Given the description of an element on the screen output the (x, y) to click on. 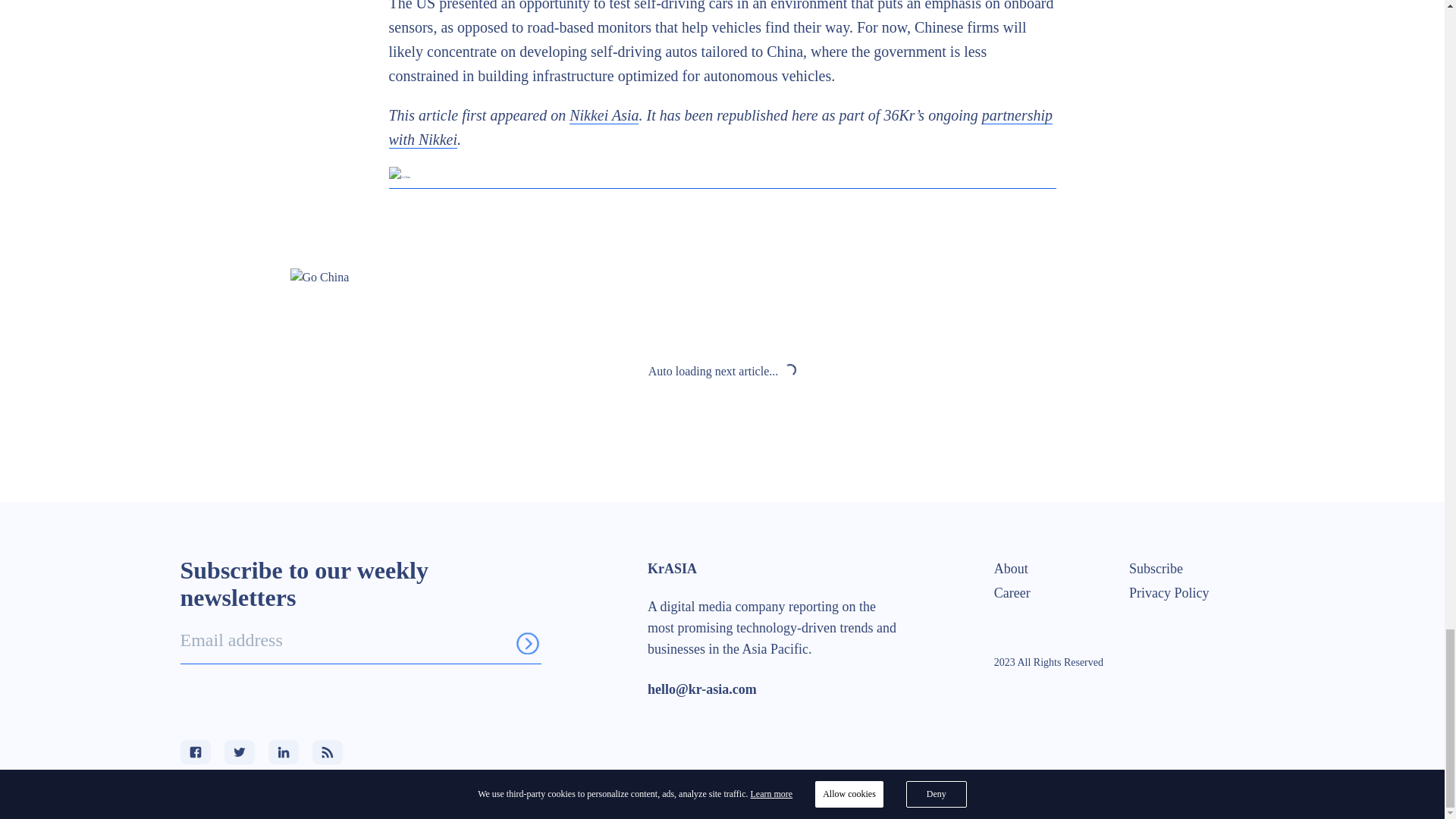
partnership with Nikkei (720, 127)
Go China (721, 178)
Go China (721, 277)
Nikkei Asia (604, 115)
